Given the description of an element on the screen output the (x, y) to click on. 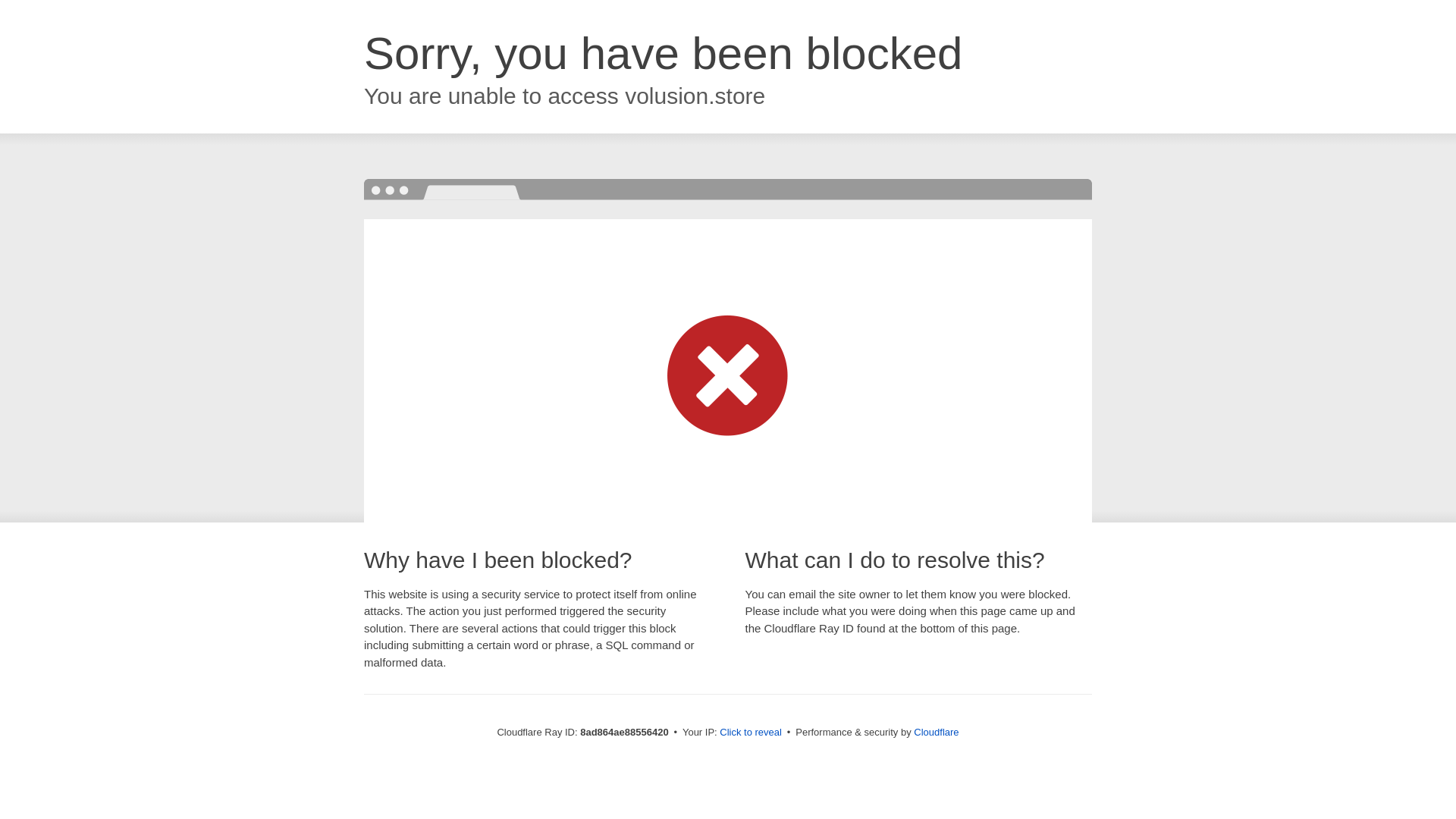
Click to reveal (750, 732)
Cloudflare (936, 731)
